Given the description of an element on the screen output the (x, y) to click on. 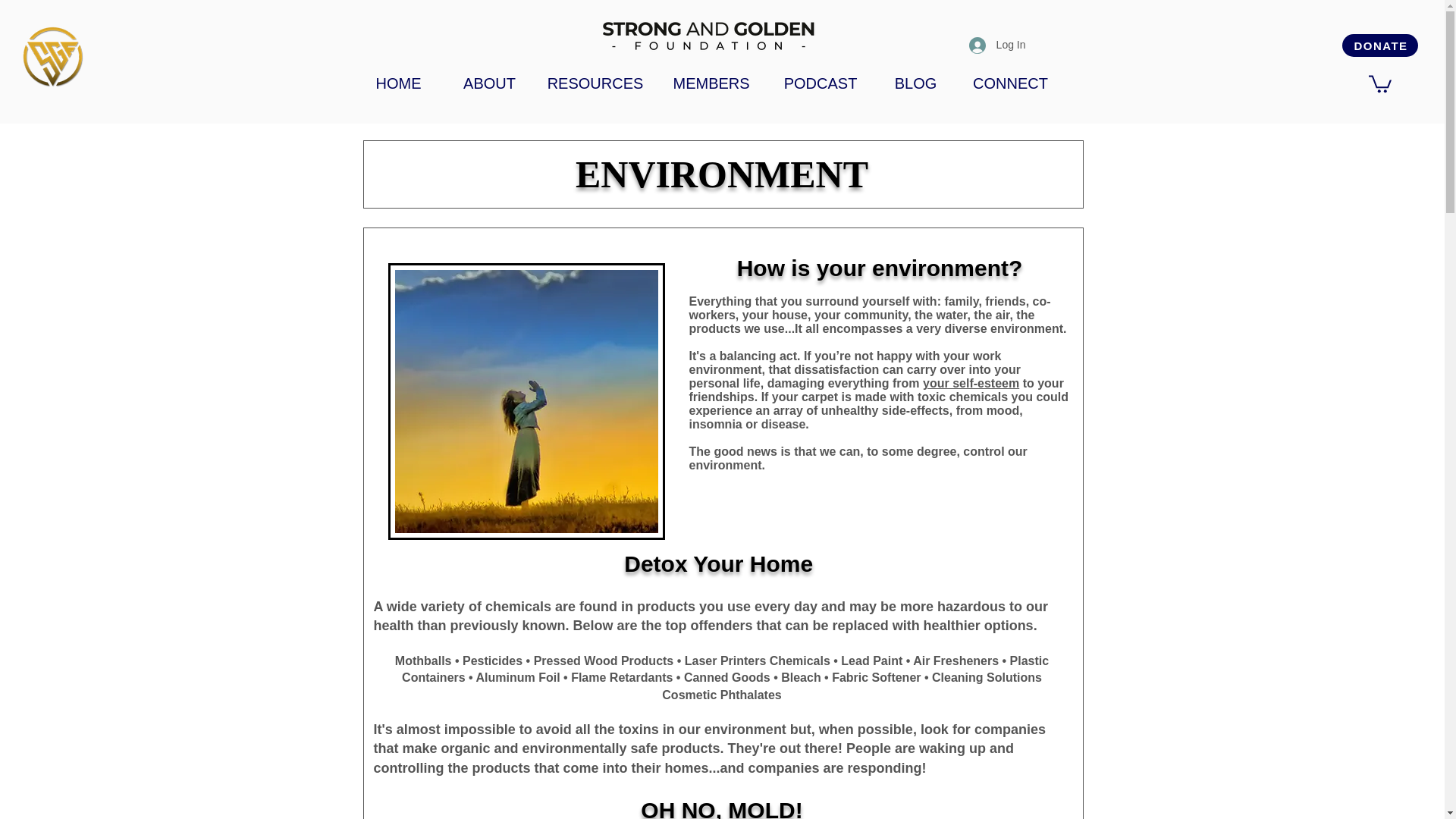
ABOUT (489, 83)
SG Text Only.png (707, 35)
PODCAST (820, 83)
DONATE (1380, 45)
MEMBERS (711, 83)
Log In (997, 44)
HOME (398, 83)
your self-esteem (971, 382)
RESOURCES (595, 83)
BLOG (915, 83)
